Given the description of an element on the screen output the (x, y) to click on. 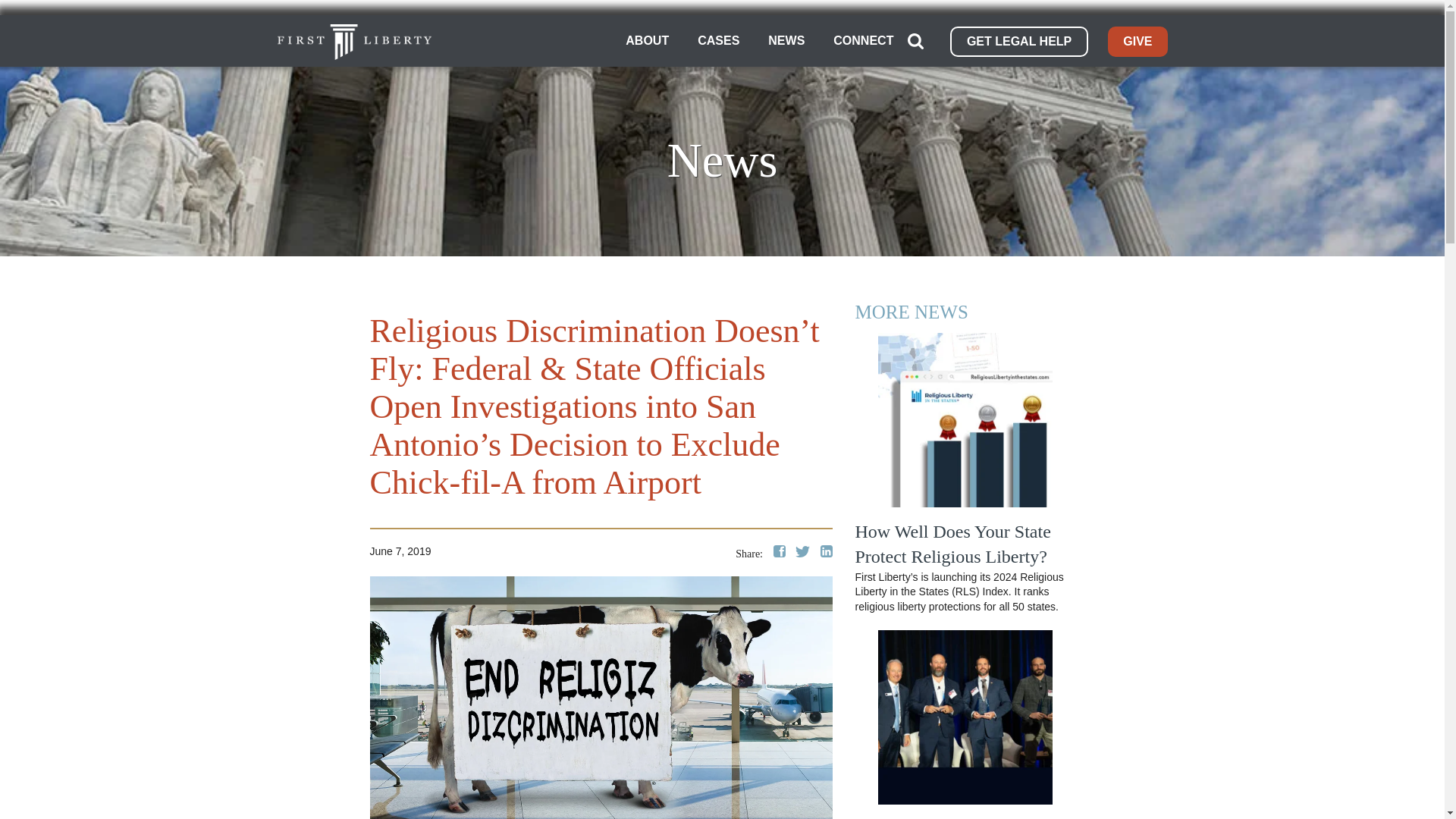
NEWS (785, 40)
CONNECT (863, 40)
CASES (718, 40)
GIVE (1137, 41)
GET LEGAL HELP (1018, 41)
ABOUT (646, 40)
Chick Fil A 1200x630 (600, 697)
